Given the description of an element on the screen output the (x, y) to click on. 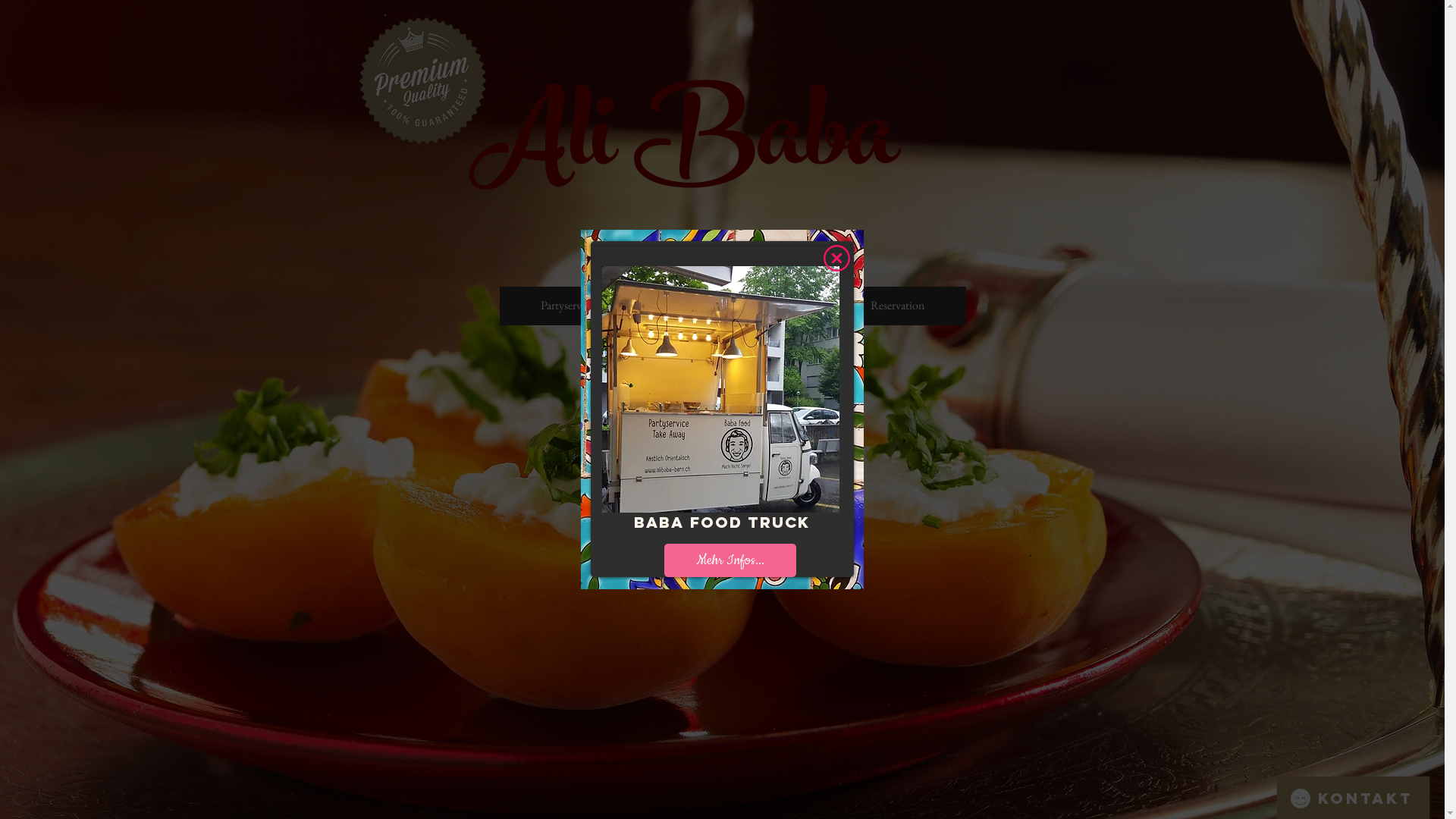
Mehr Infos... Element type: text (730, 560)
Reservation Element type: text (897, 305)
Restaurant Element type: text (721, 305)
Partyservice Element type: text (566, 305)
